Given the description of an element on the screen output the (x, y) to click on. 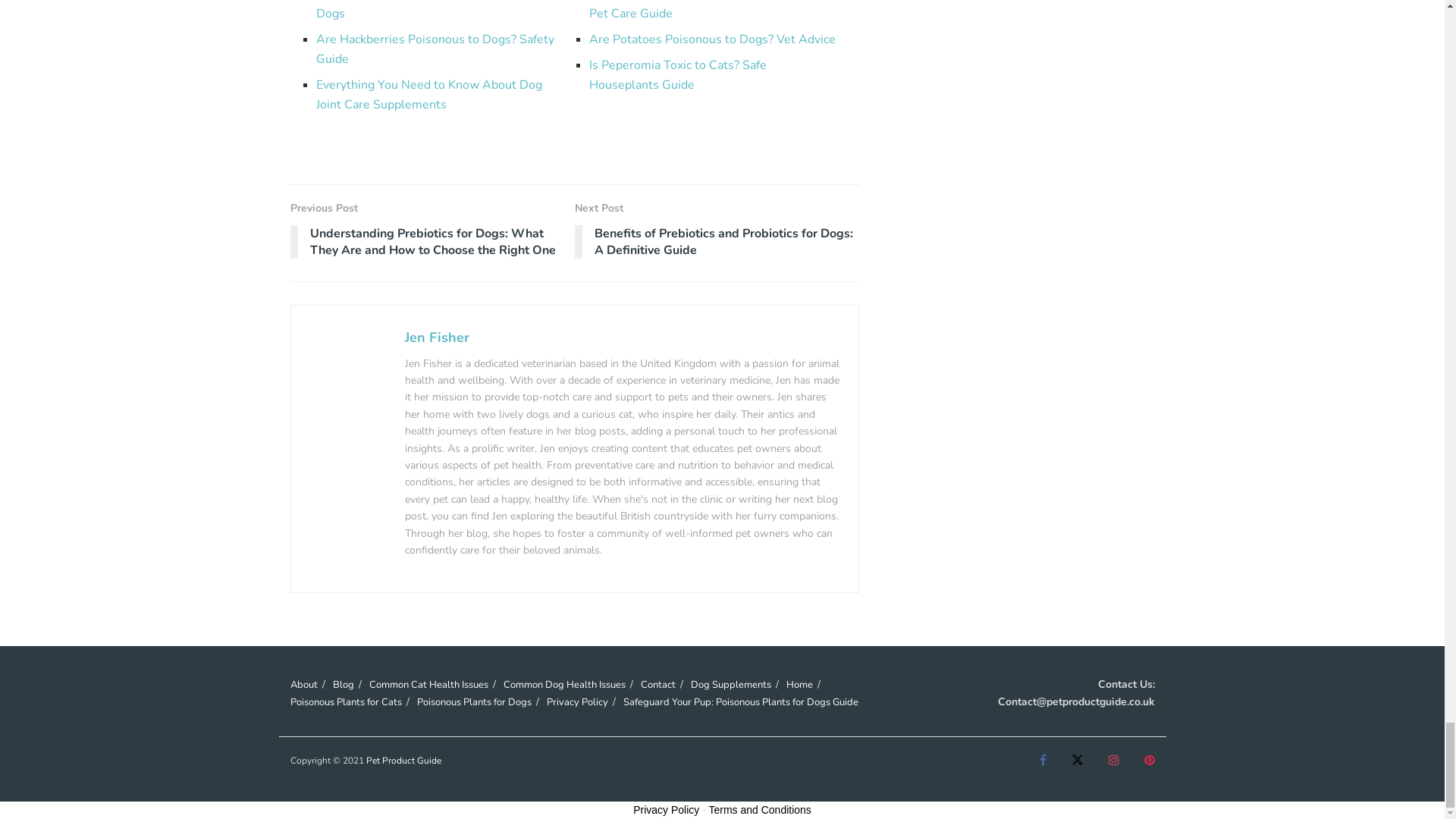
Pet Product Guide (403, 760)
